Given the description of an element on the screen output the (x, y) to click on. 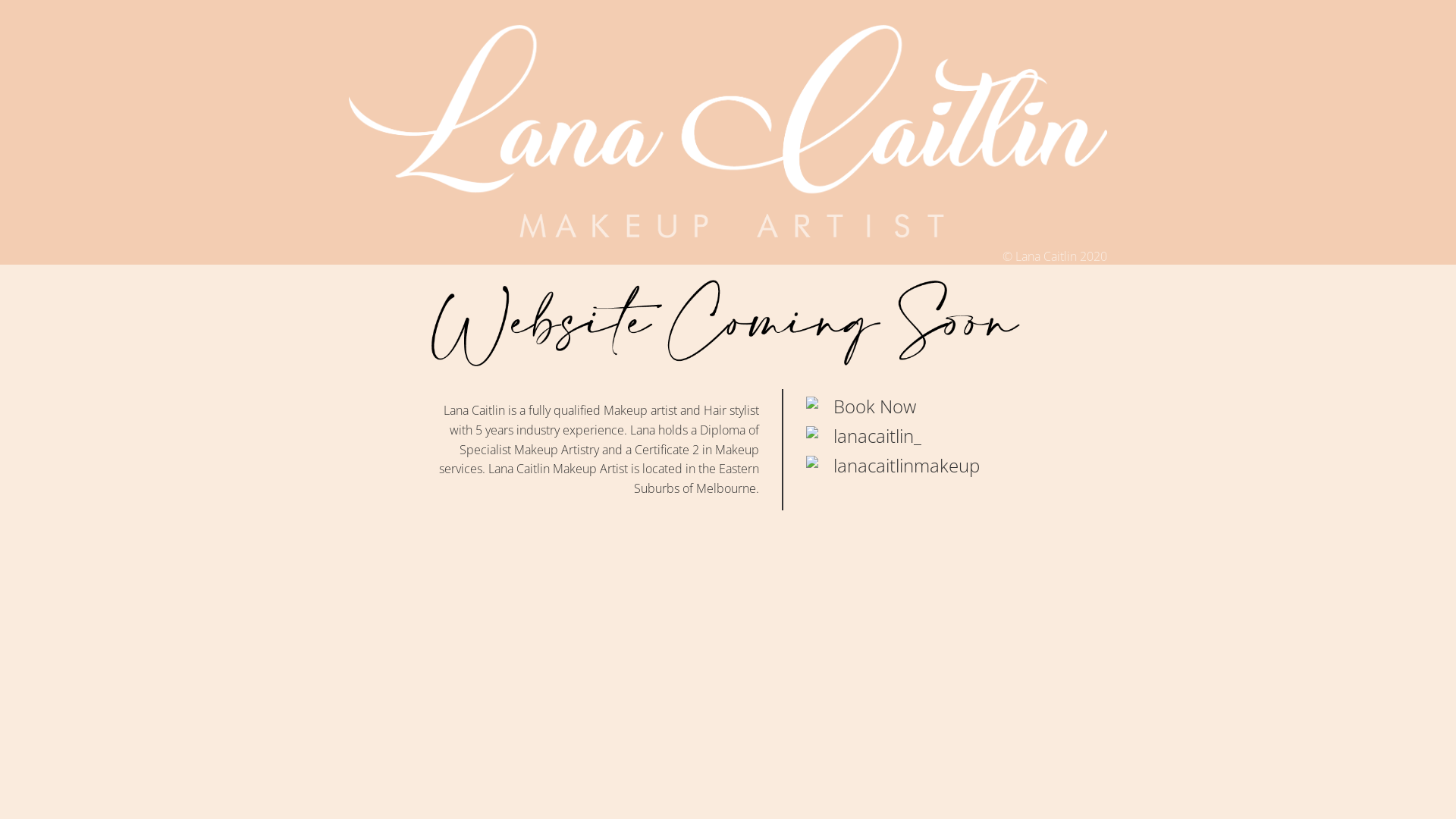
lanacaitlin_ Element type: text (877, 435)
lanacaitlinmakeup Element type: text (906, 464)
Book Now Element type: text (874, 405)
